Given the description of an element on the screen output the (x, y) to click on. 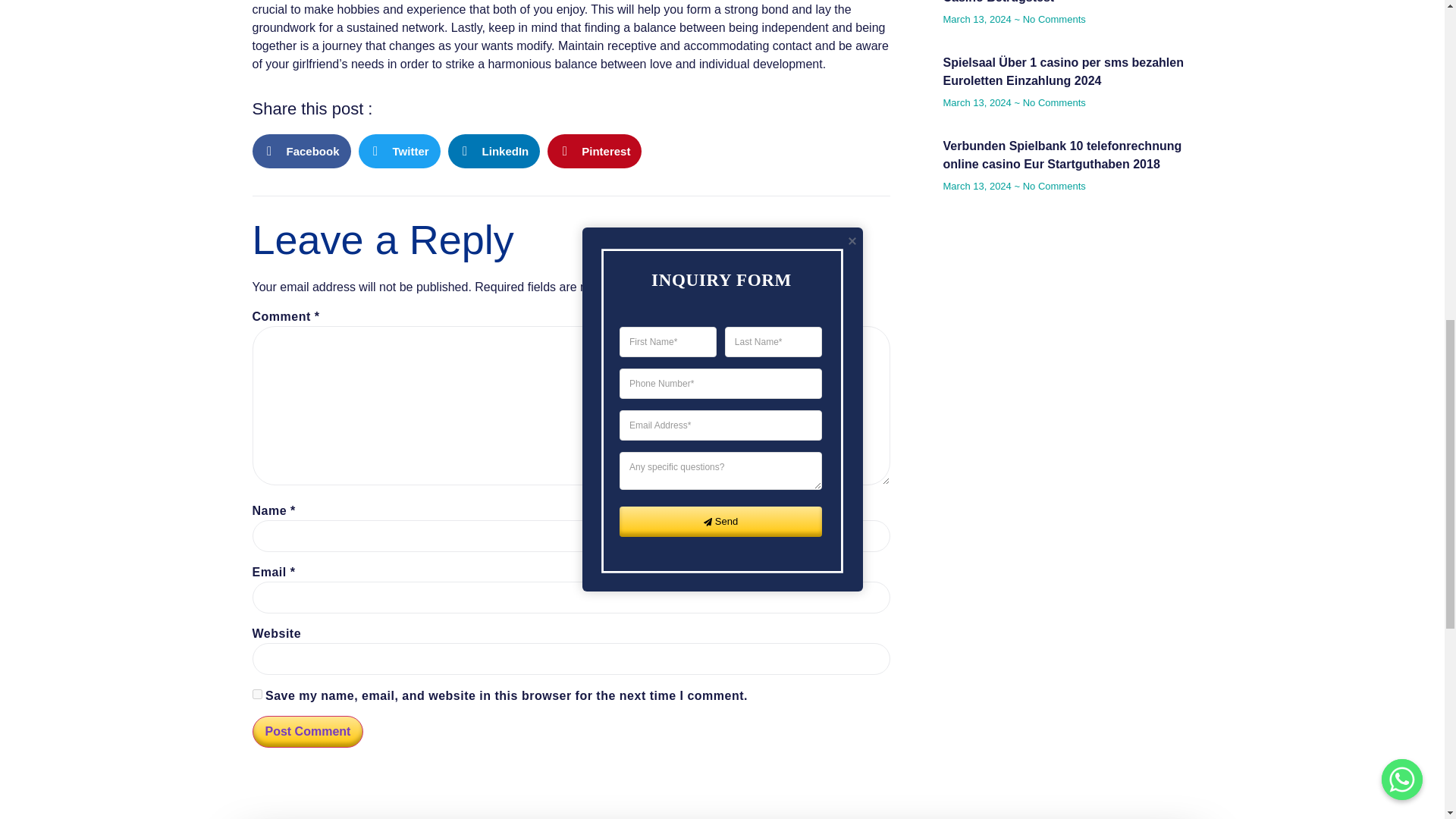
Post Comment (306, 731)
yes (256, 694)
Post Comment (306, 731)
